Given the description of an element on the screen output the (x, y) to click on. 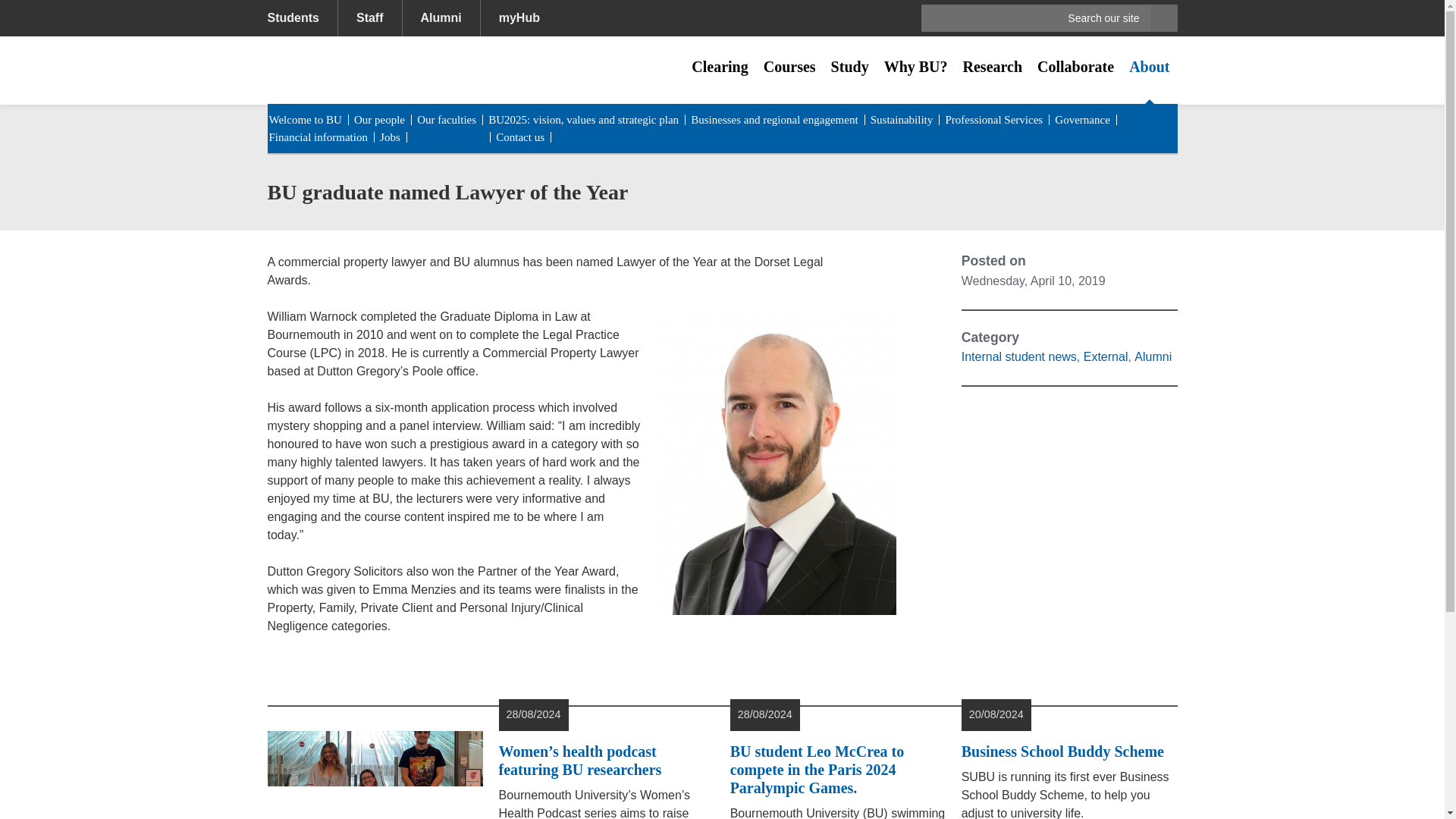
Clearing (719, 66)
Students (301, 18)
Search (1163, 17)
Enter the terms you wish to search for. (1049, 17)
Study (850, 66)
Skip to main content (66, 11)
Why BU? (915, 66)
Research (992, 66)
Bournemouth University (372, 70)
Search (1163, 17)
